Given the description of an element on the screen output the (x, y) to click on. 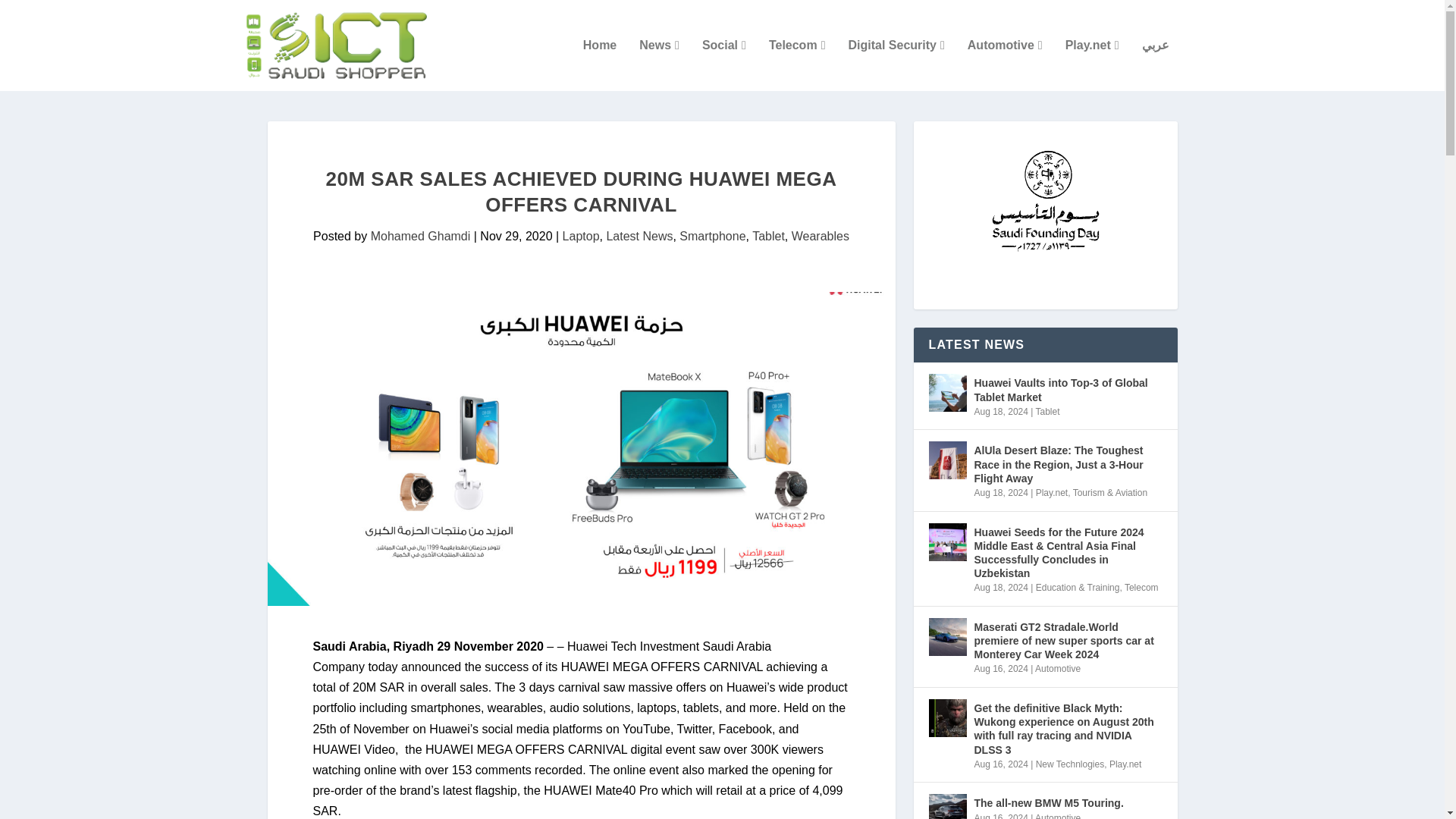
Telecom (796, 64)
Digital Security (895, 64)
Automotive (1005, 64)
